Given the description of an element on the screen output the (x, y) to click on. 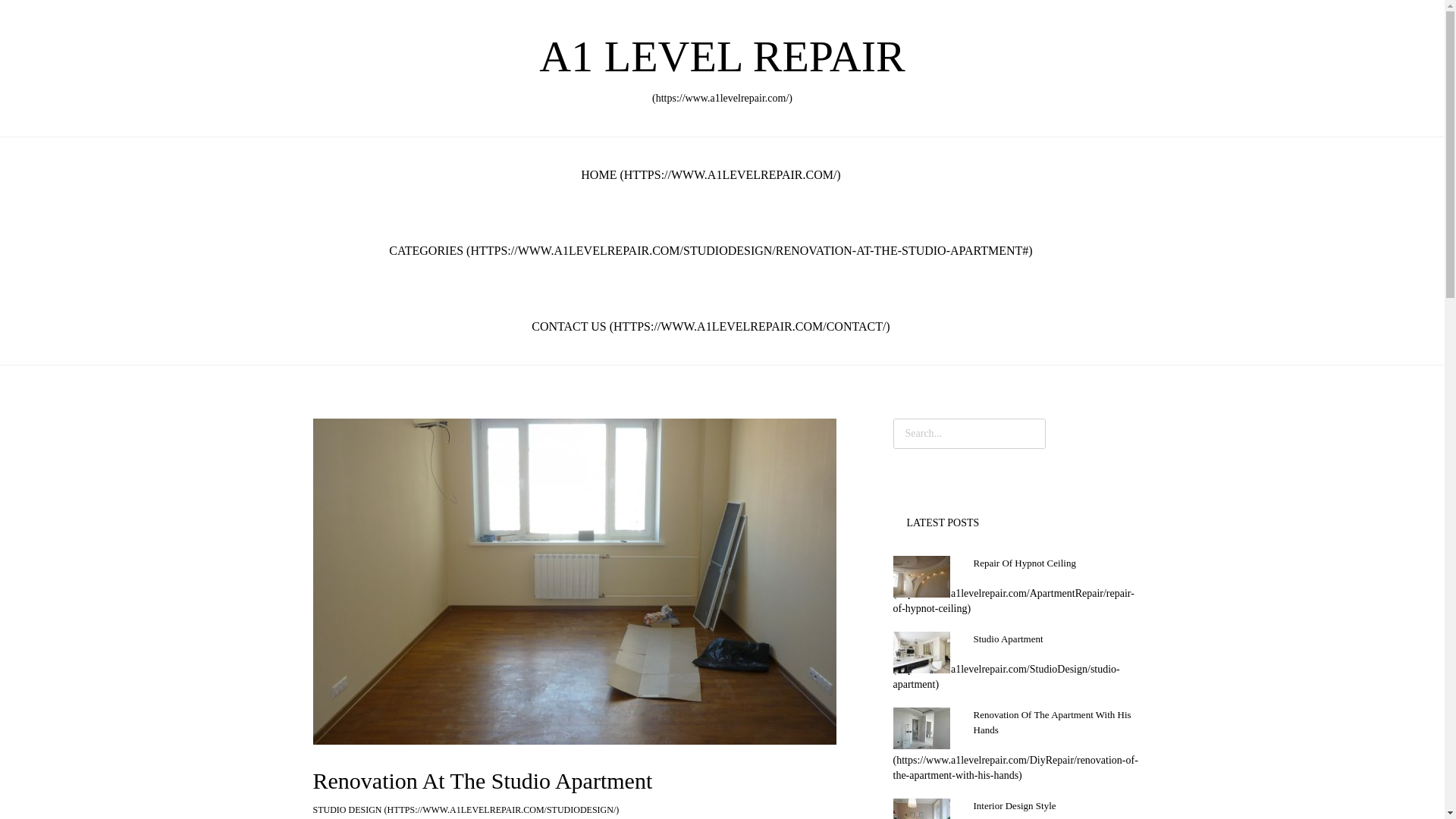
HOME (710, 174)
CATEGORIES (710, 250)
STUDIO DESIGN (465, 809)
CONTACT US (710, 326)
